Given the description of an element on the screen output the (x, y) to click on. 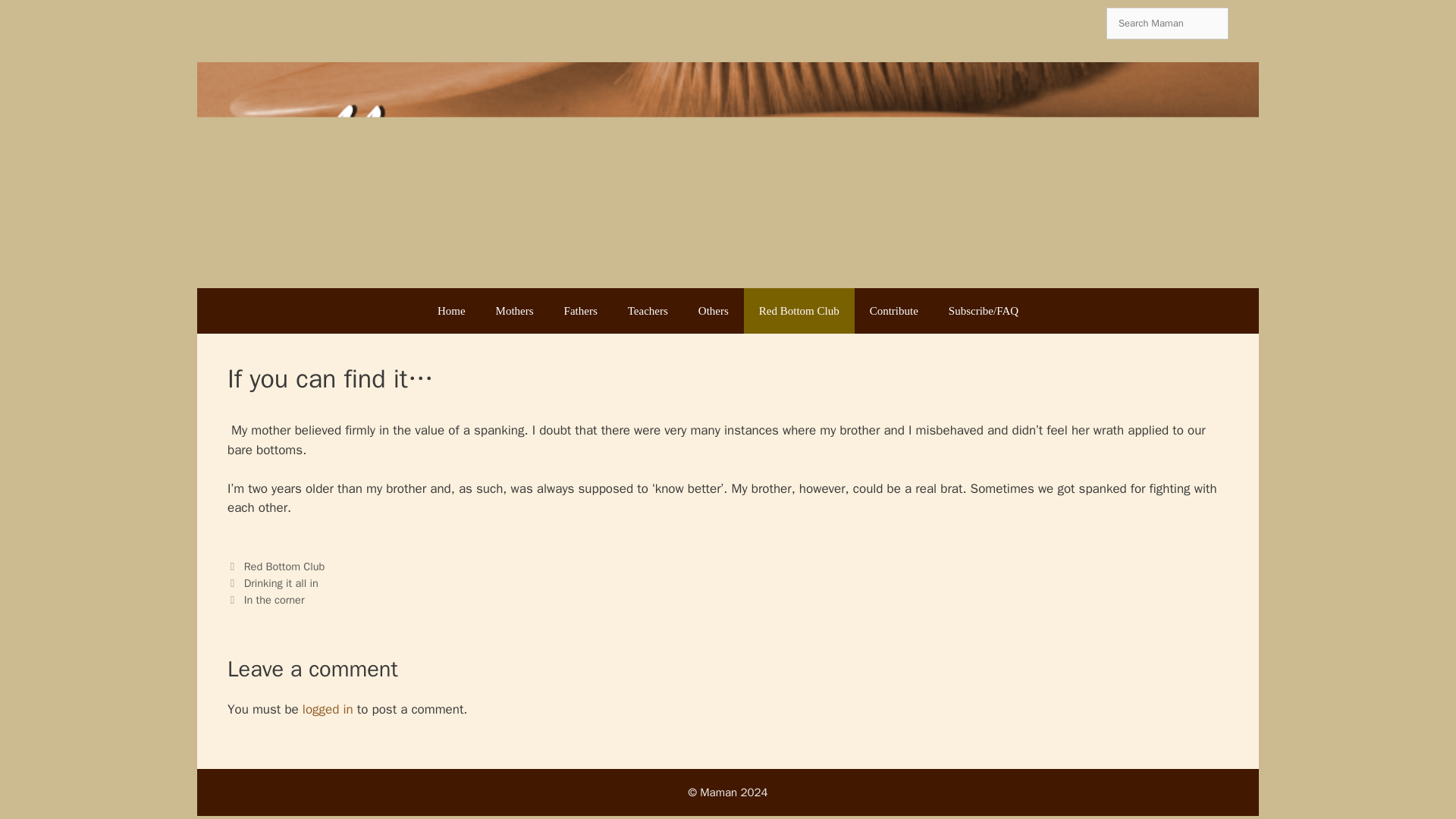
Fathers (580, 310)
Red Bottom Club (284, 566)
Contribute (893, 310)
Others (713, 310)
In the corner (274, 599)
Search for: (1167, 23)
logged in (327, 709)
Home (451, 310)
Red Bottom Club (799, 310)
Drinking it all in (281, 582)
Teachers (647, 310)
Search (37, 19)
Mothers (514, 310)
